Given the description of an element on the screen output the (x, y) to click on. 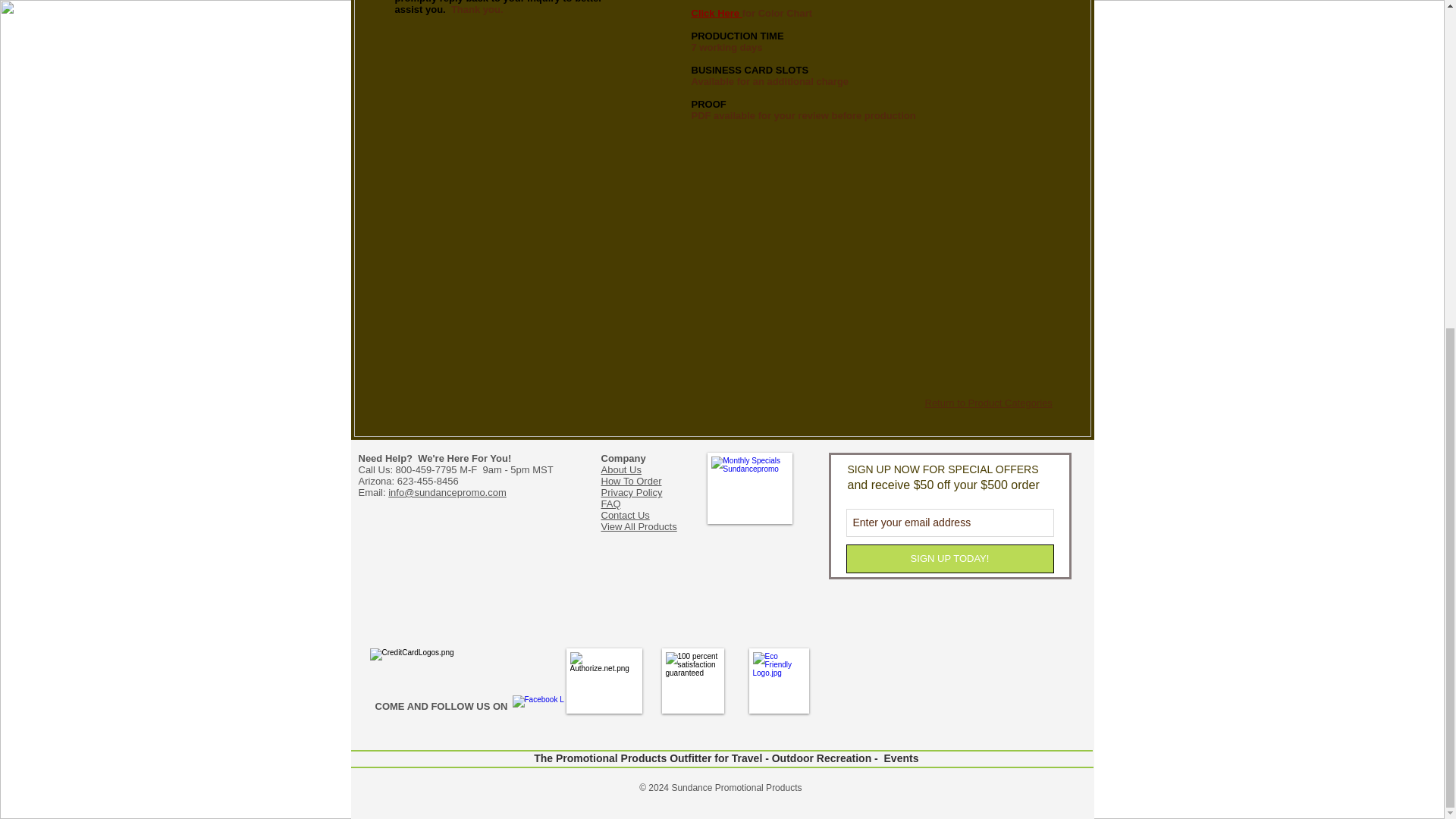
How To Order (630, 480)
View All Products (638, 526)
Return to Product Categories (988, 402)
FAQ (609, 503)
Click Here (716, 12)
Contact Us (624, 514)
About Us (619, 469)
SIGN UP TODAY! (949, 558)
Privacy Policy (630, 491)
